Given the description of an element on the screen output the (x, y) to click on. 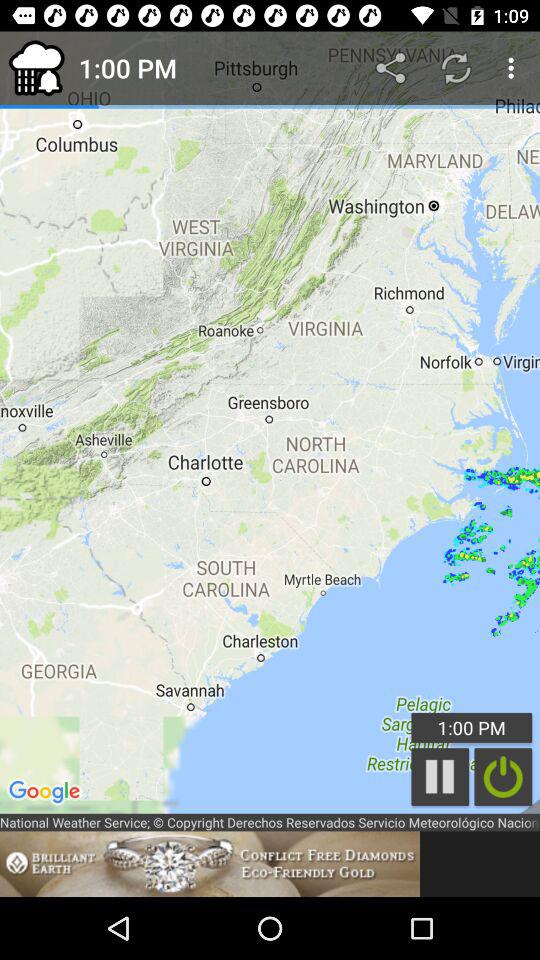
click on button (503, 776)
